Given the description of an element on the screen output the (x, y) to click on. 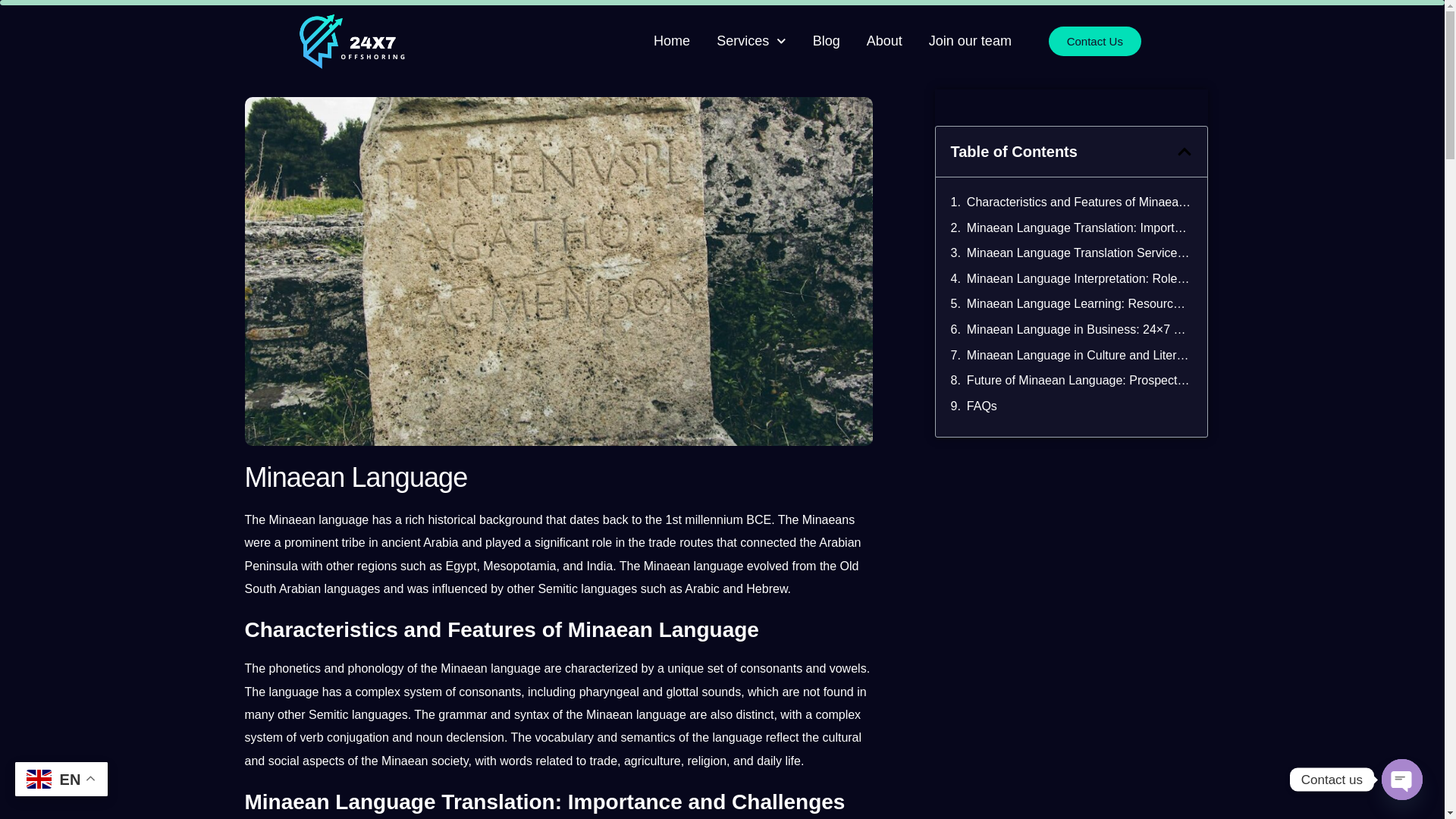
Services (751, 40)
Home (671, 40)
Contact Us (1094, 40)
language (343, 519)
Join our team (969, 40)
About (884, 40)
India (599, 565)
